Given the description of an element on the screen output the (x, y) to click on. 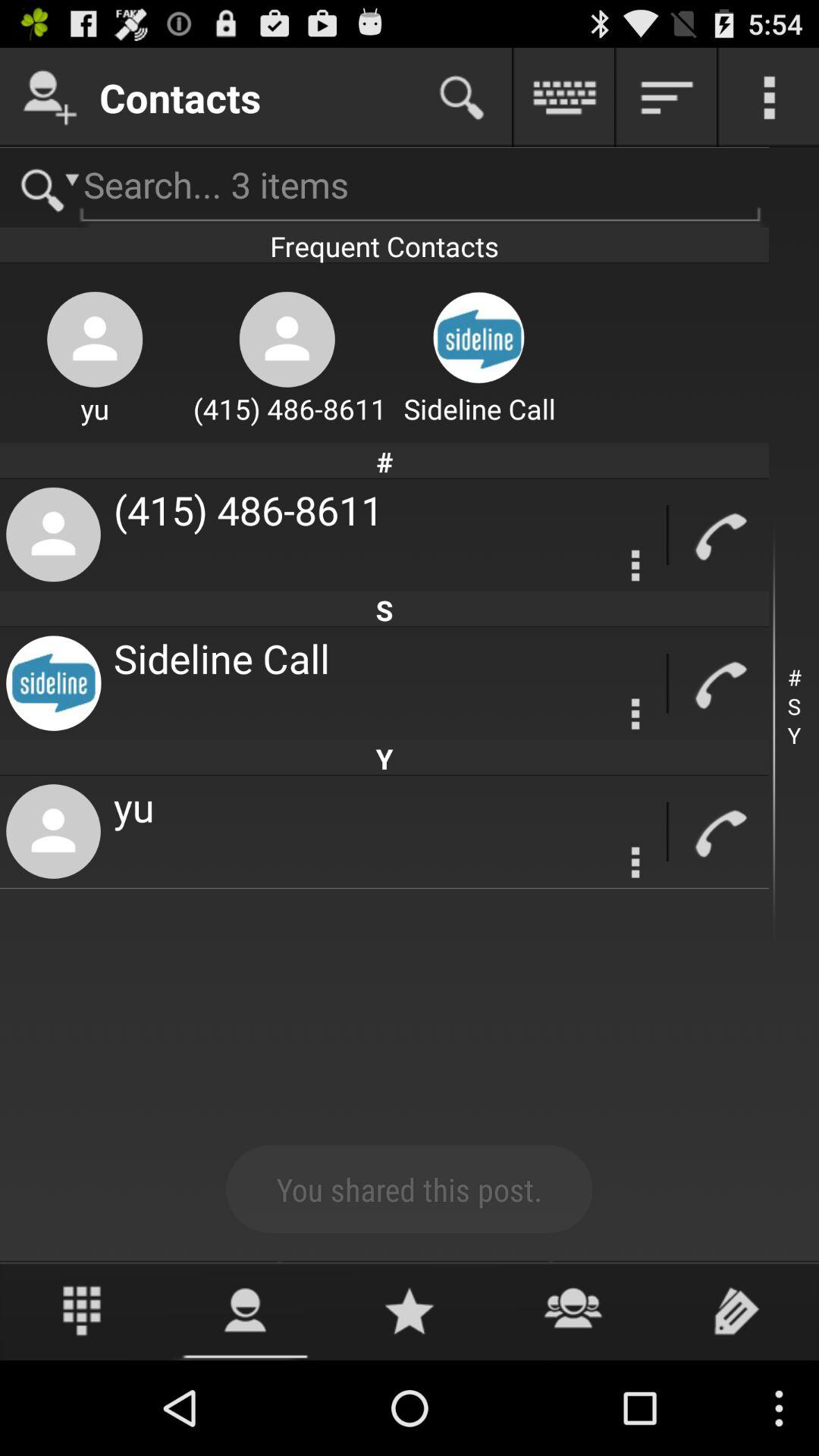
edit with pencil (737, 1310)
